Given the description of an element on the screen output the (x, y) to click on. 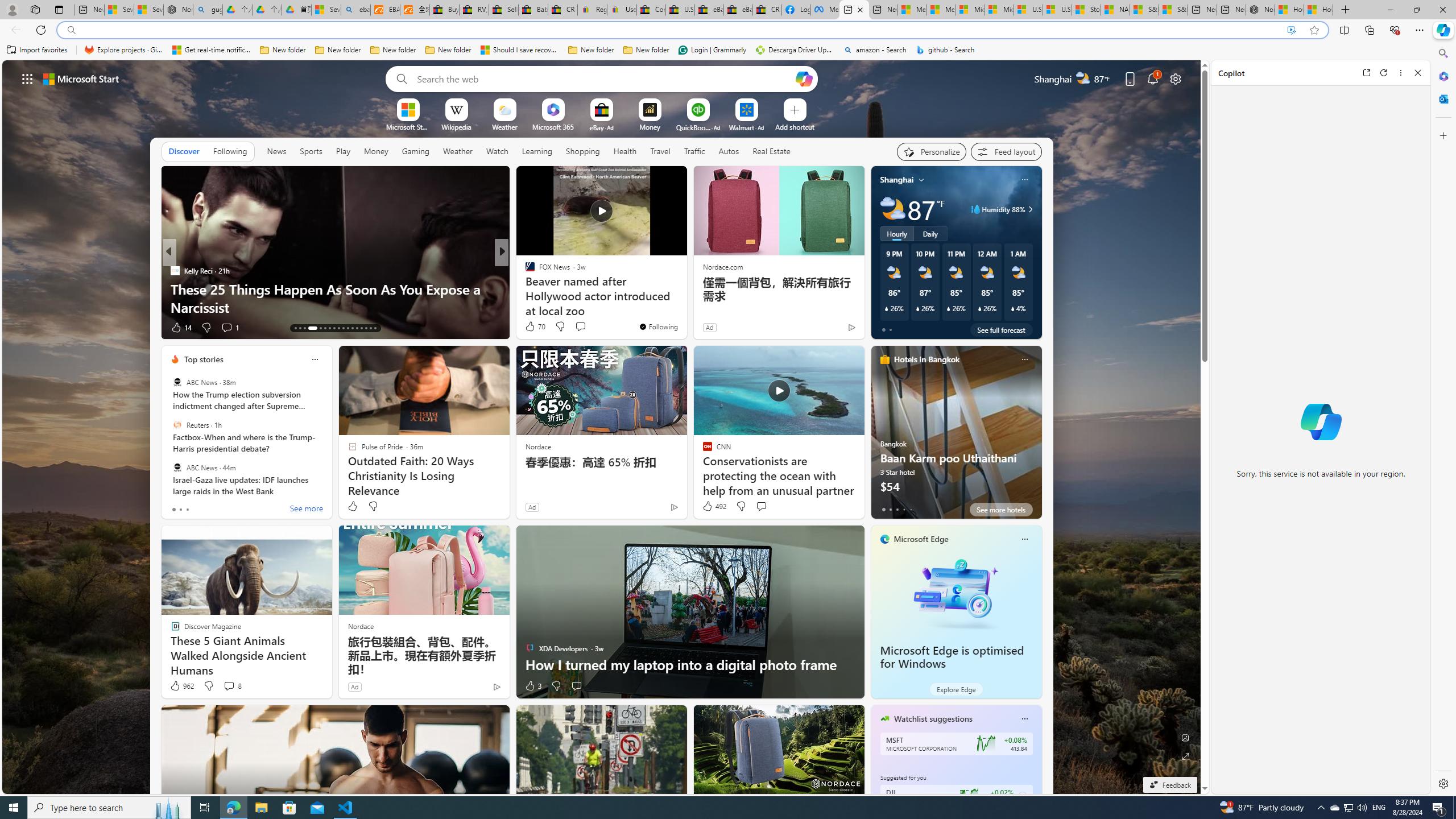
View comments 24 Comment (585, 327)
Watchlist suggestions (932, 718)
AutomationID: tab-34 (370, 328)
BRAINY DOSE (524, 270)
81 Like (530, 327)
Import favorites (36, 49)
11 Like (530, 327)
Tom's Guide (174, 270)
Explore Edge (955, 689)
How To Start Windows In Safe Mode (684, 307)
How to Wipe a Dell Laptop (684, 307)
